Given the description of an element on the screen output the (x, y) to click on. 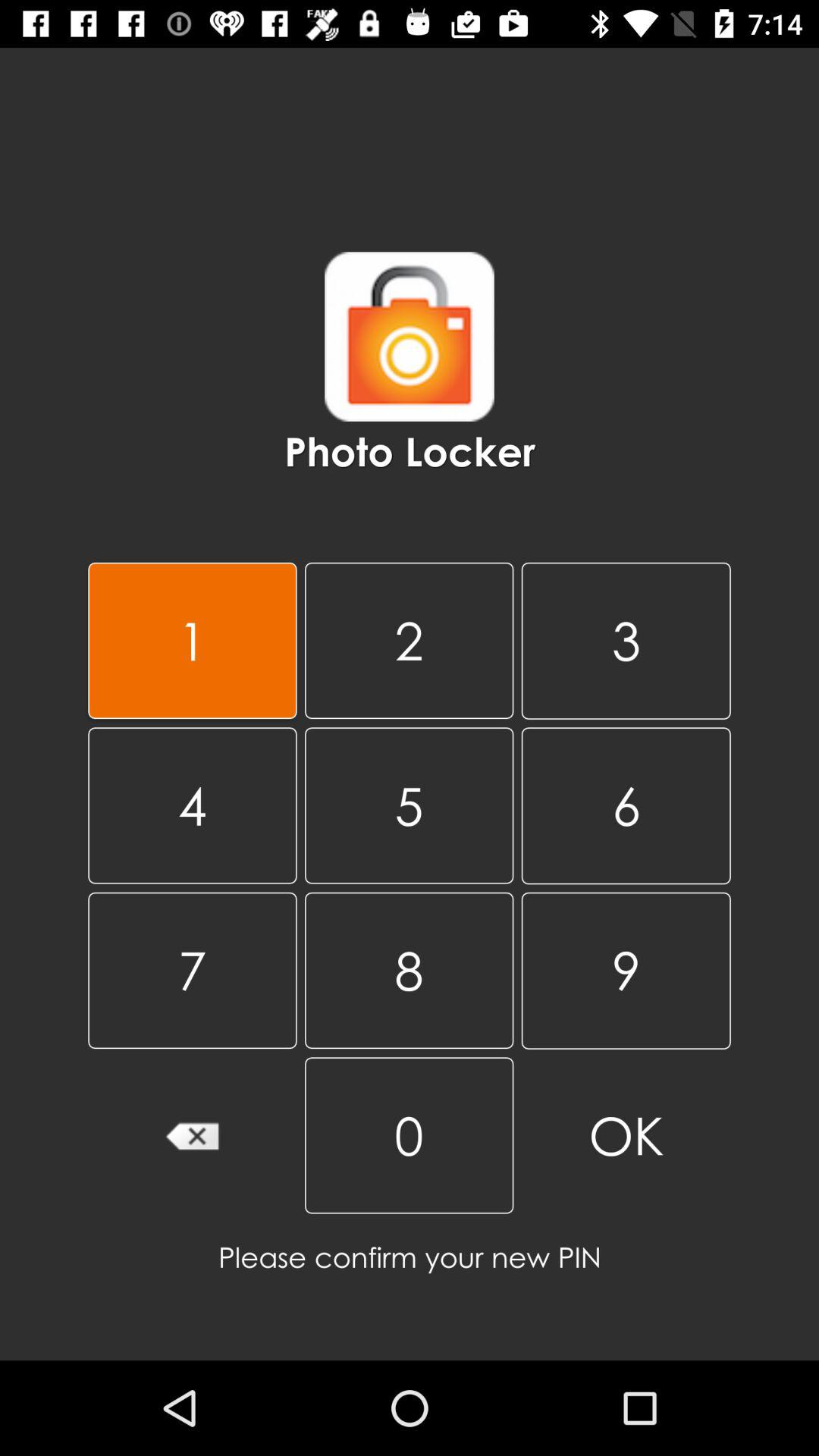
click 6 (625, 805)
